Given the description of an element on the screen output the (x, y) to click on. 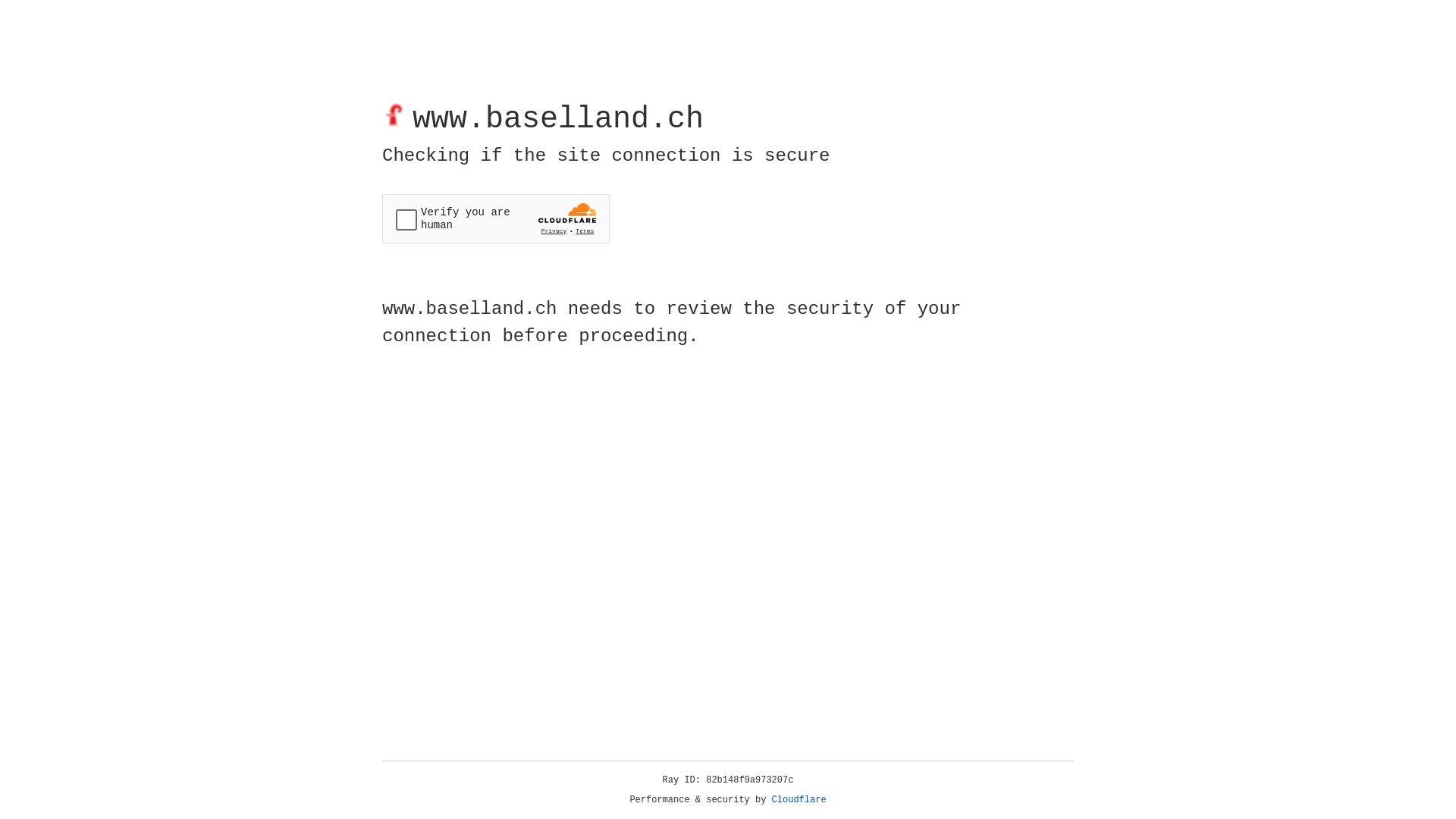
Cloudflare Element type: text (798, 799)
Widget containing a Cloudflare security challenge Element type: hover (495, 218)
